Given the description of an element on the screen output the (x, y) to click on. 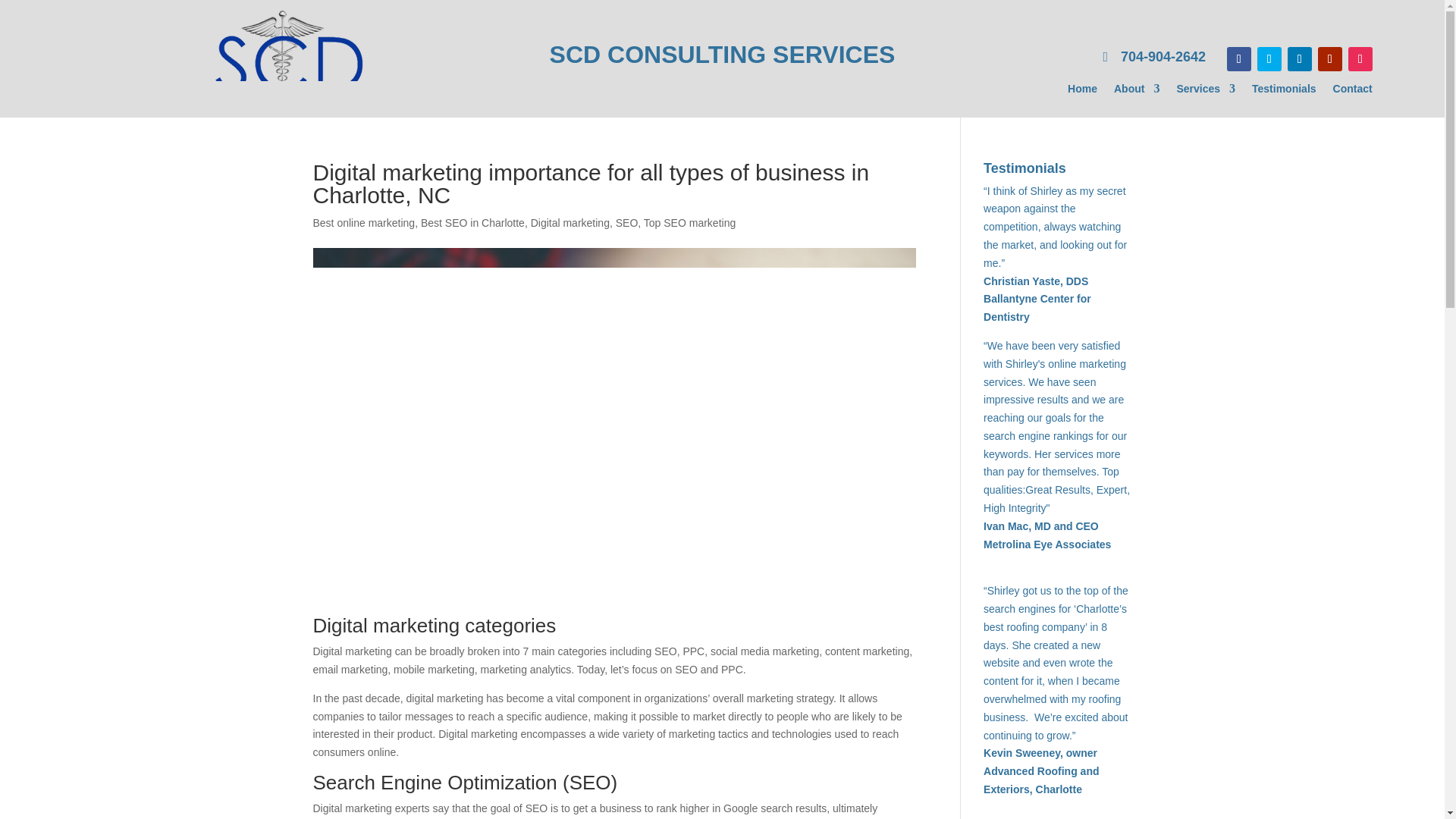
Home (1082, 91)
Contact (1353, 91)
Follow on Youtube (1329, 58)
704-904-2642 (1154, 56)
Follow on LinkedIn (1299, 58)
Follow on Instagram (1360, 58)
Follow on X (1269, 58)
Services (1205, 91)
Follow on Facebook (1238, 58)
Testimonials (1284, 91)
